Given the description of an element on the screen output the (x, y) to click on. 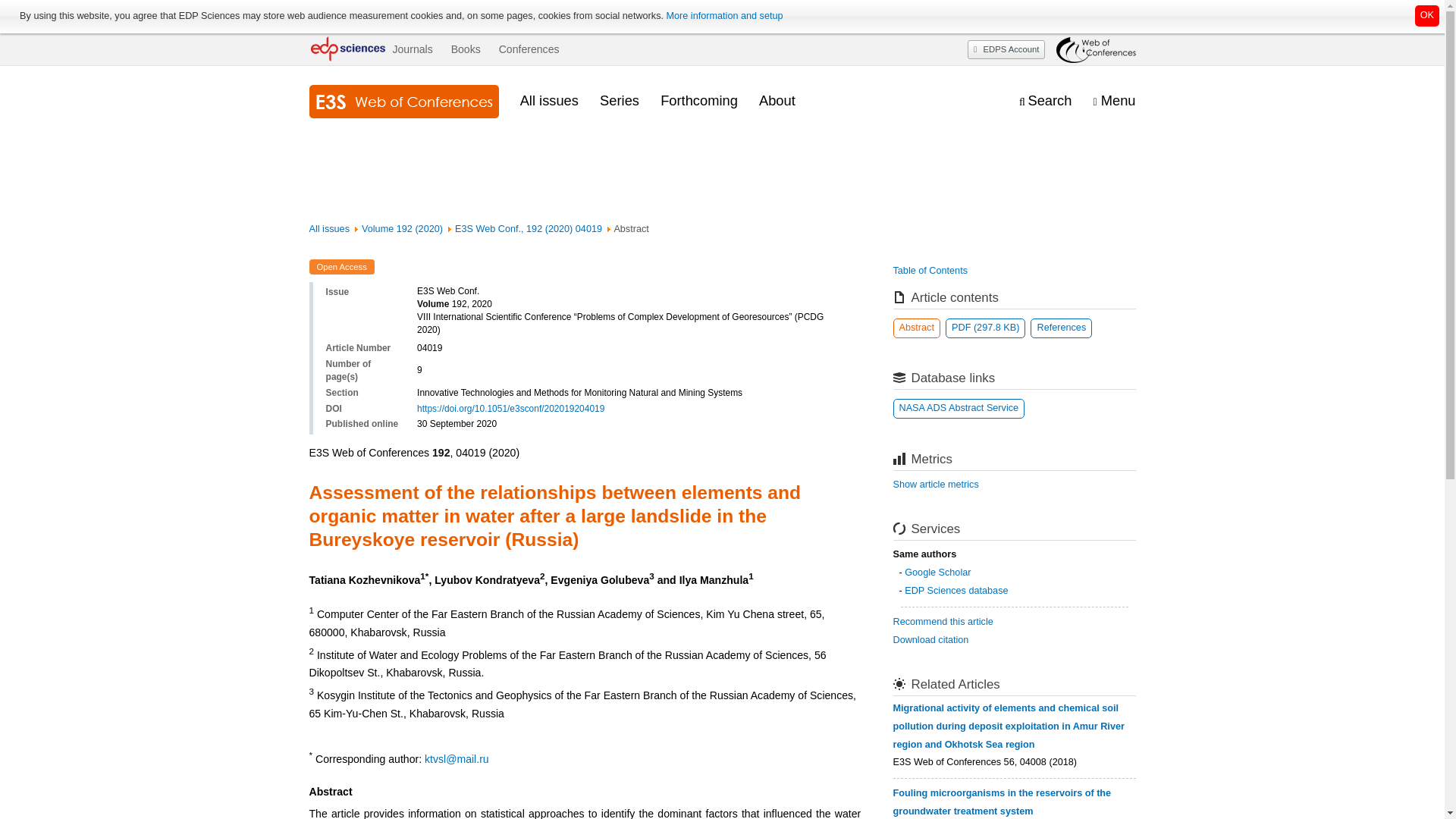
More information and setup (724, 15)
Books (465, 49)
Conferences (529, 49)
Journals (411, 49)
Click to close this notification (1427, 15)
Journal homepage (403, 101)
Abstract (916, 328)
Display the search engine (1045, 101)
OK (1427, 15)
